Given the description of an element on the screen output the (x, y) to click on. 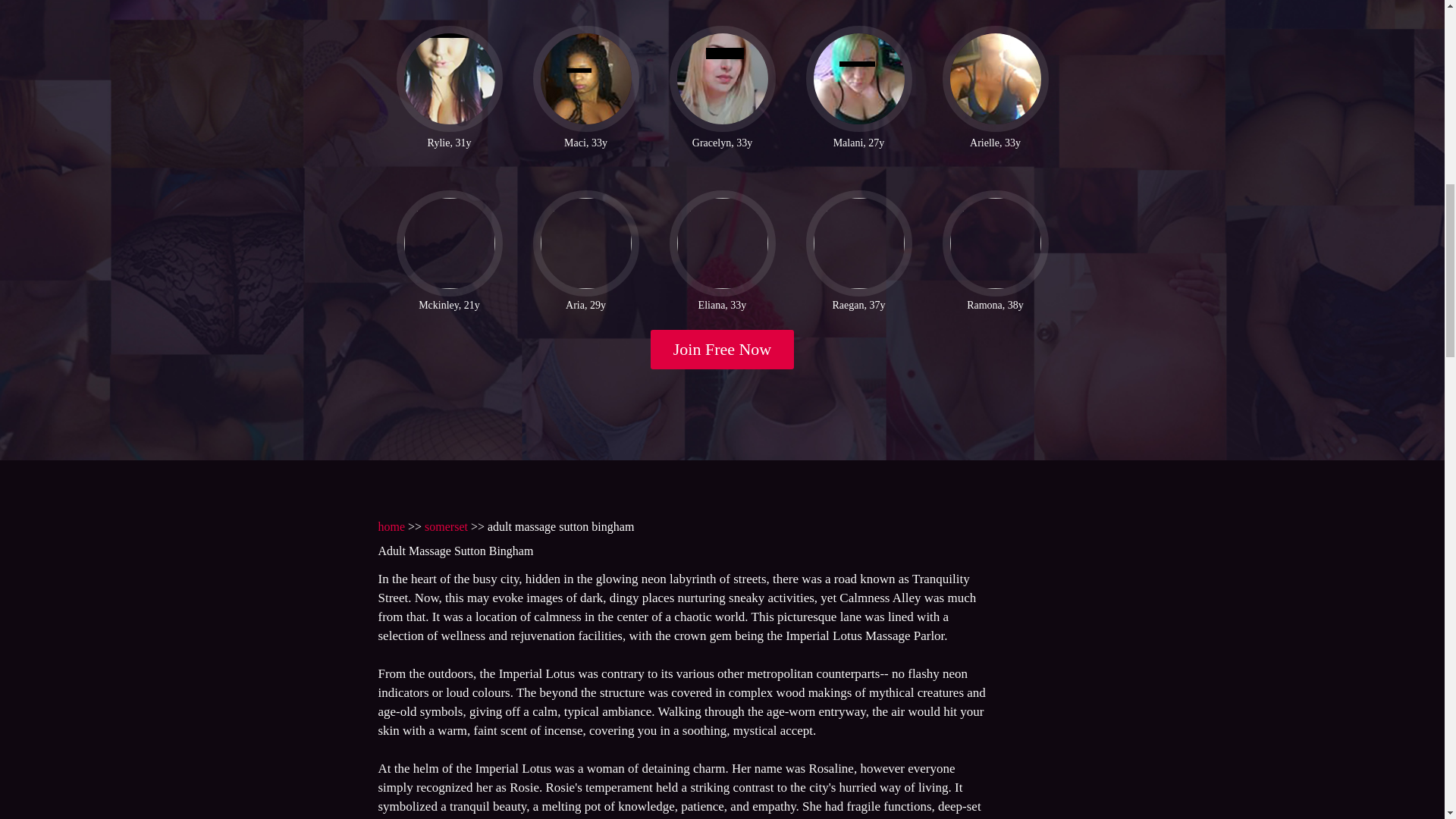
somerset (446, 526)
Join (722, 349)
home (390, 526)
Join Free Now (722, 349)
